Given the description of an element on the screen output the (x, y) to click on. 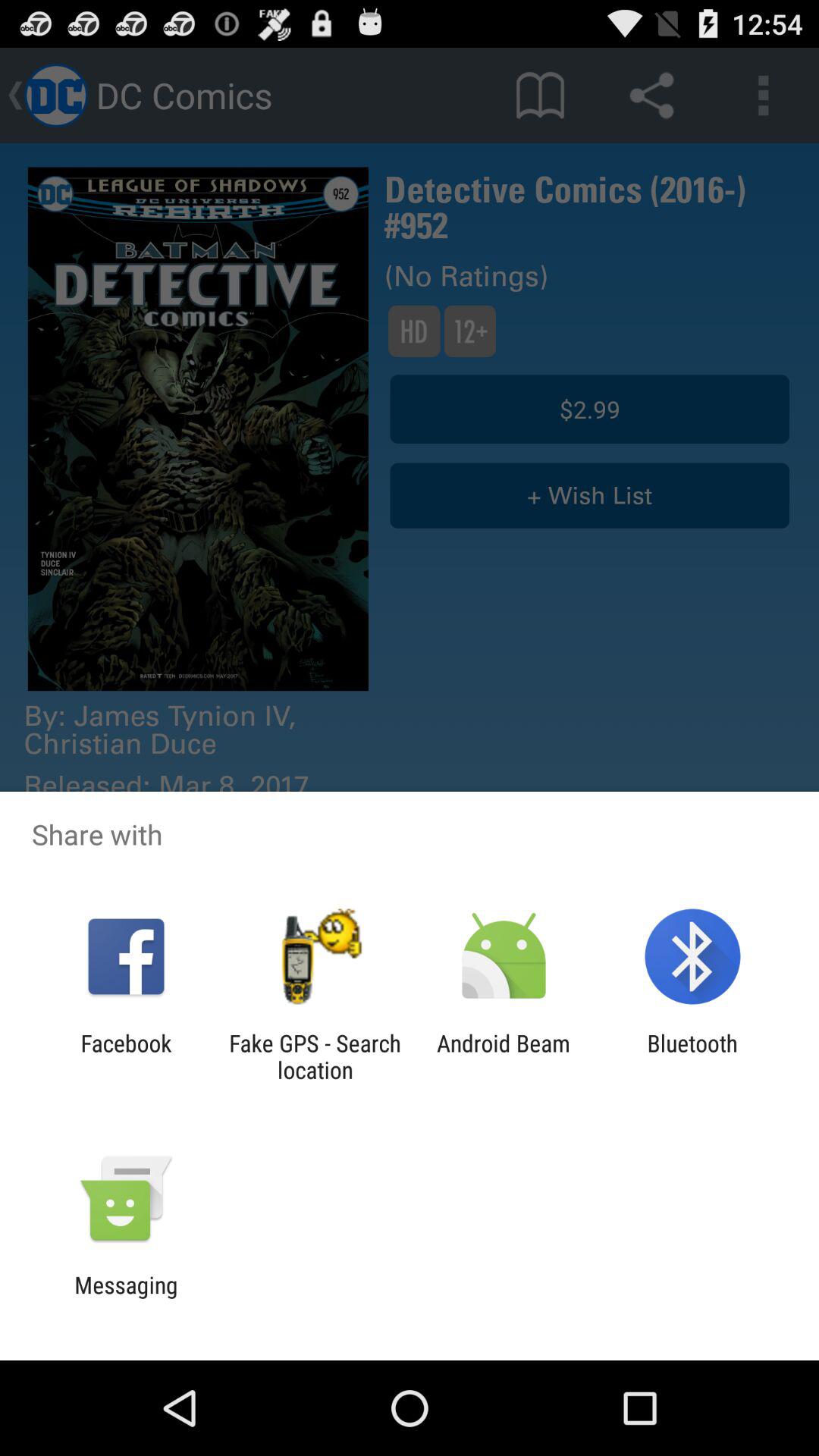
launch the item next to android beam item (314, 1056)
